Given the description of an element on the screen output the (x, y) to click on. 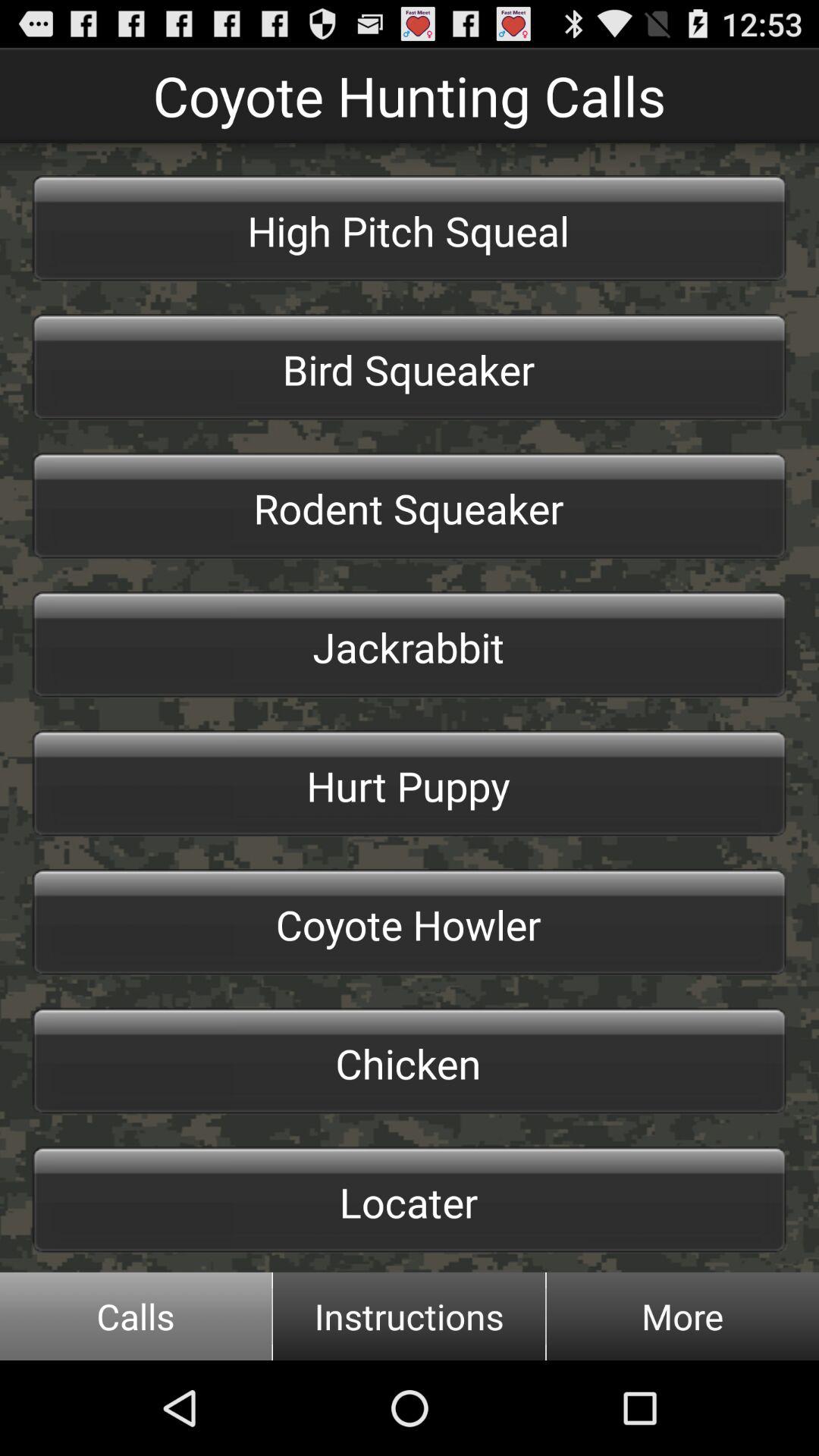
select the item below coyote howler item (409, 1060)
